Given the description of an element on the screen output the (x, y) to click on. 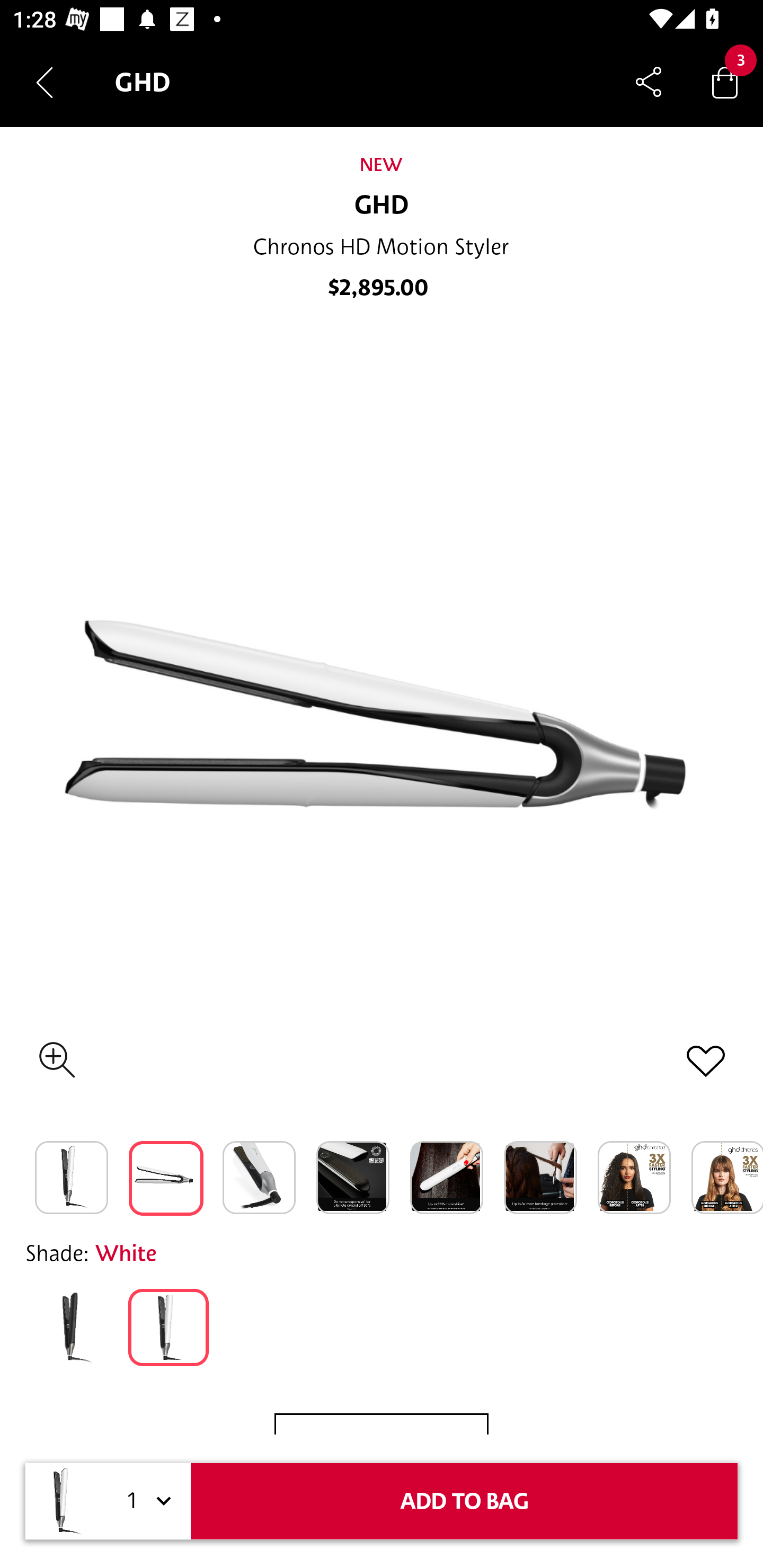
Navigate up (44, 82)
Share (648, 81)
Bag (724, 81)
GHD (381, 205)
1 (145, 1500)
ADD TO BAG (463, 1500)
